Given the description of an element on the screen output the (x, y) to click on. 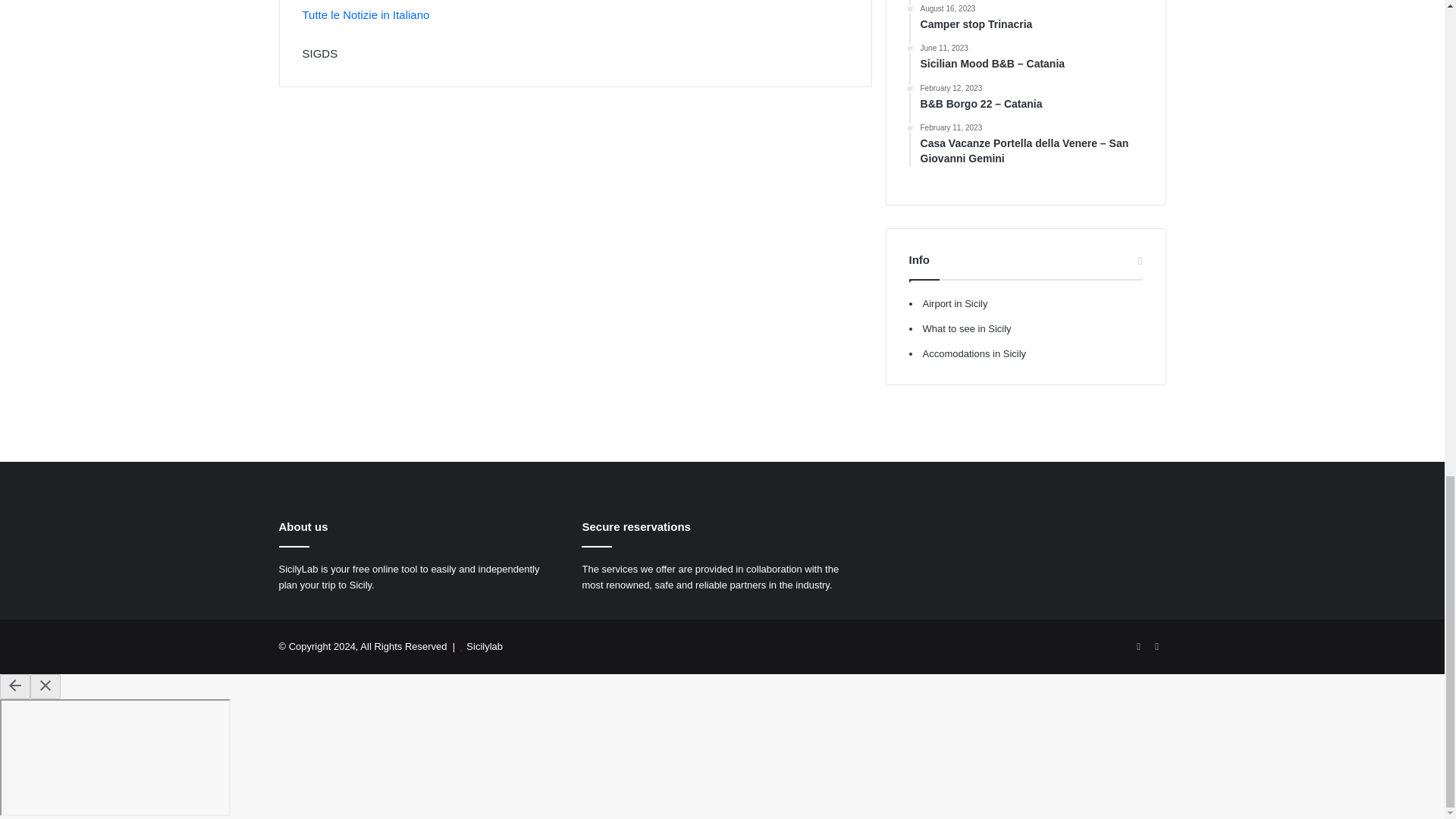
Sicilian news (334, 0)
Tutte le Notizie in Italiano (365, 14)
